Given the description of an element on the screen output the (x, y) to click on. 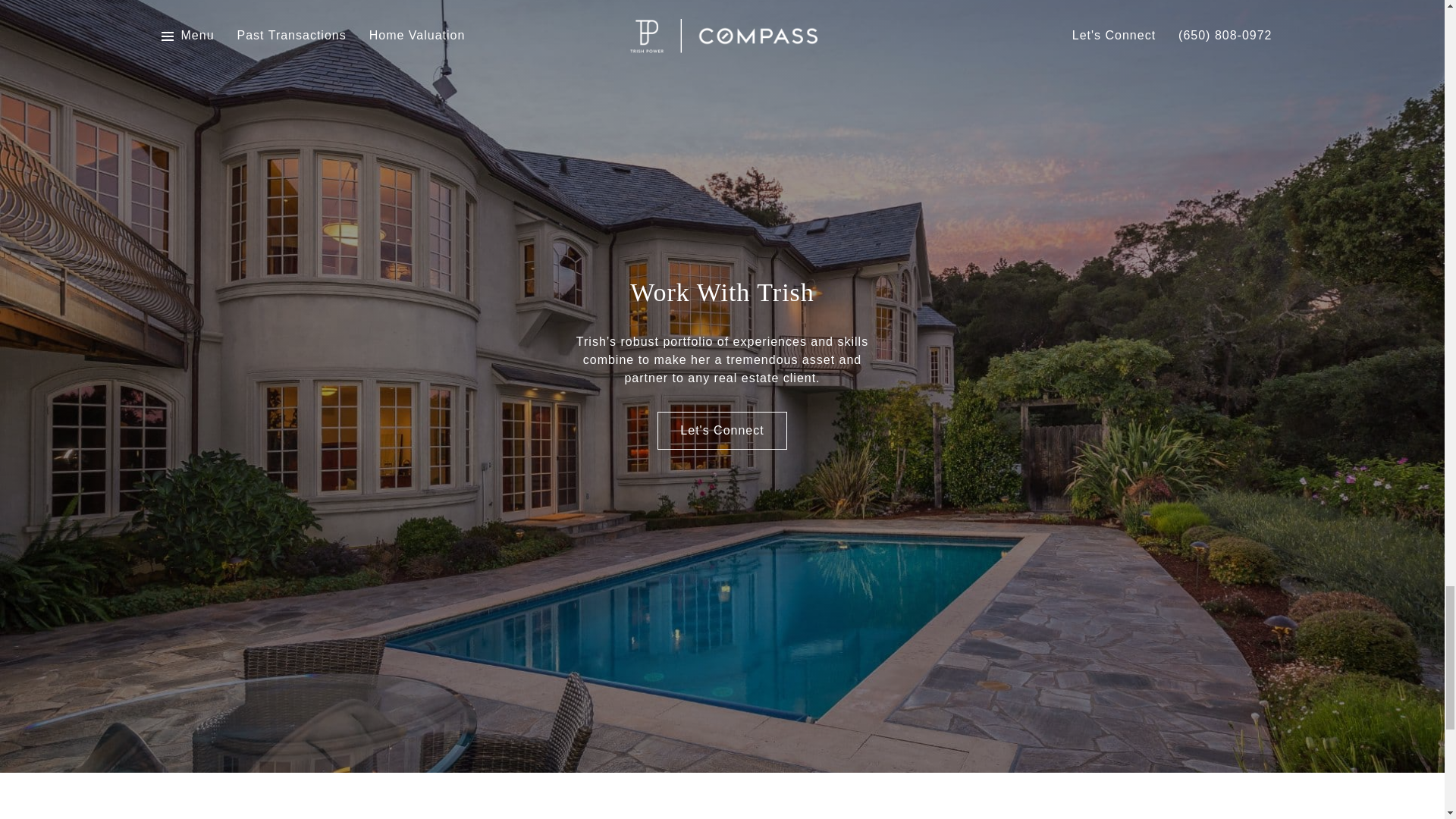
Let'S Connect (722, 430)
